Given the description of an element on the screen output the (x, y) to click on. 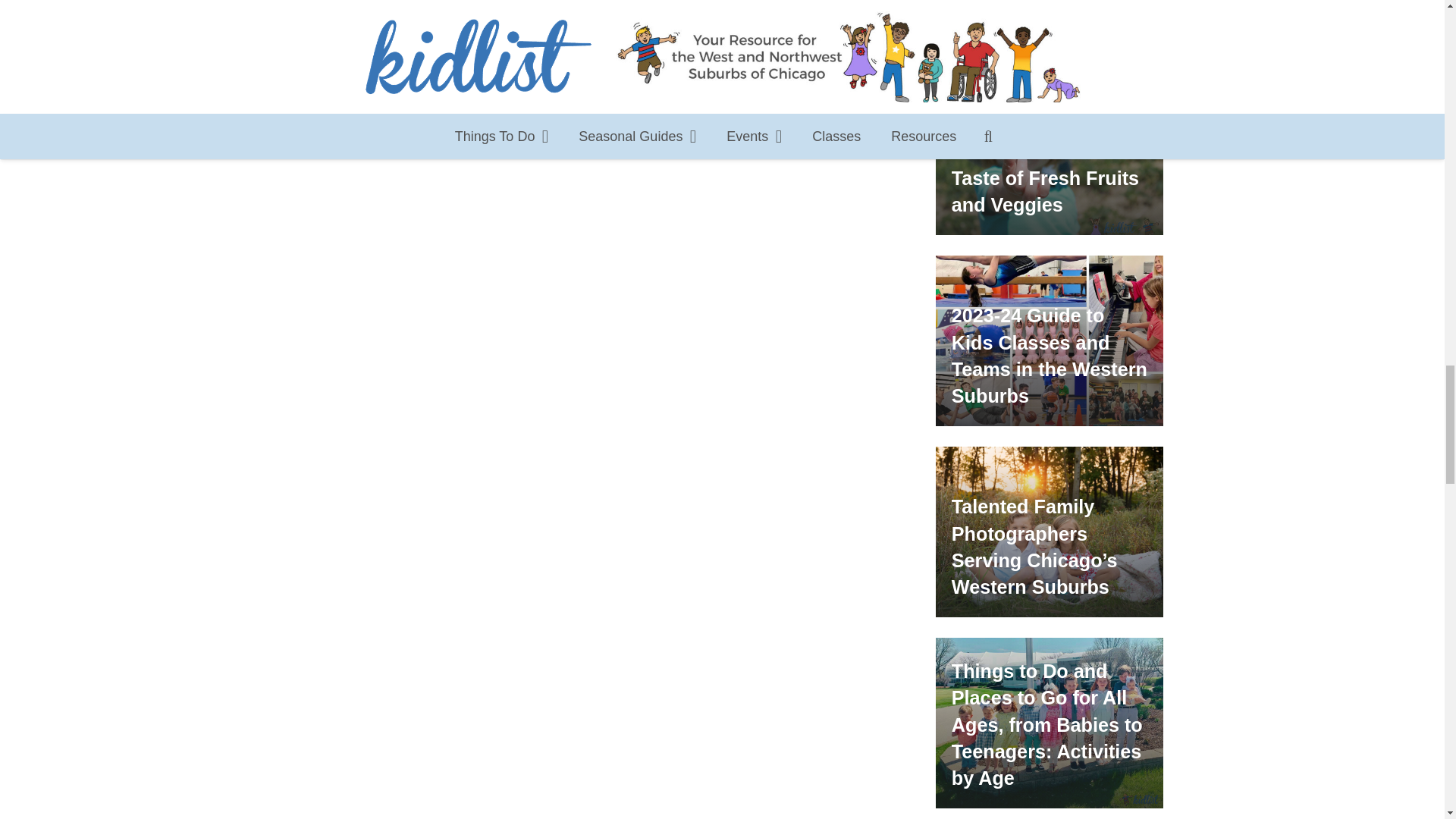
Email this (271, 30)
Share this (315, 30)
